Given the description of an element on the screen output the (x, y) to click on. 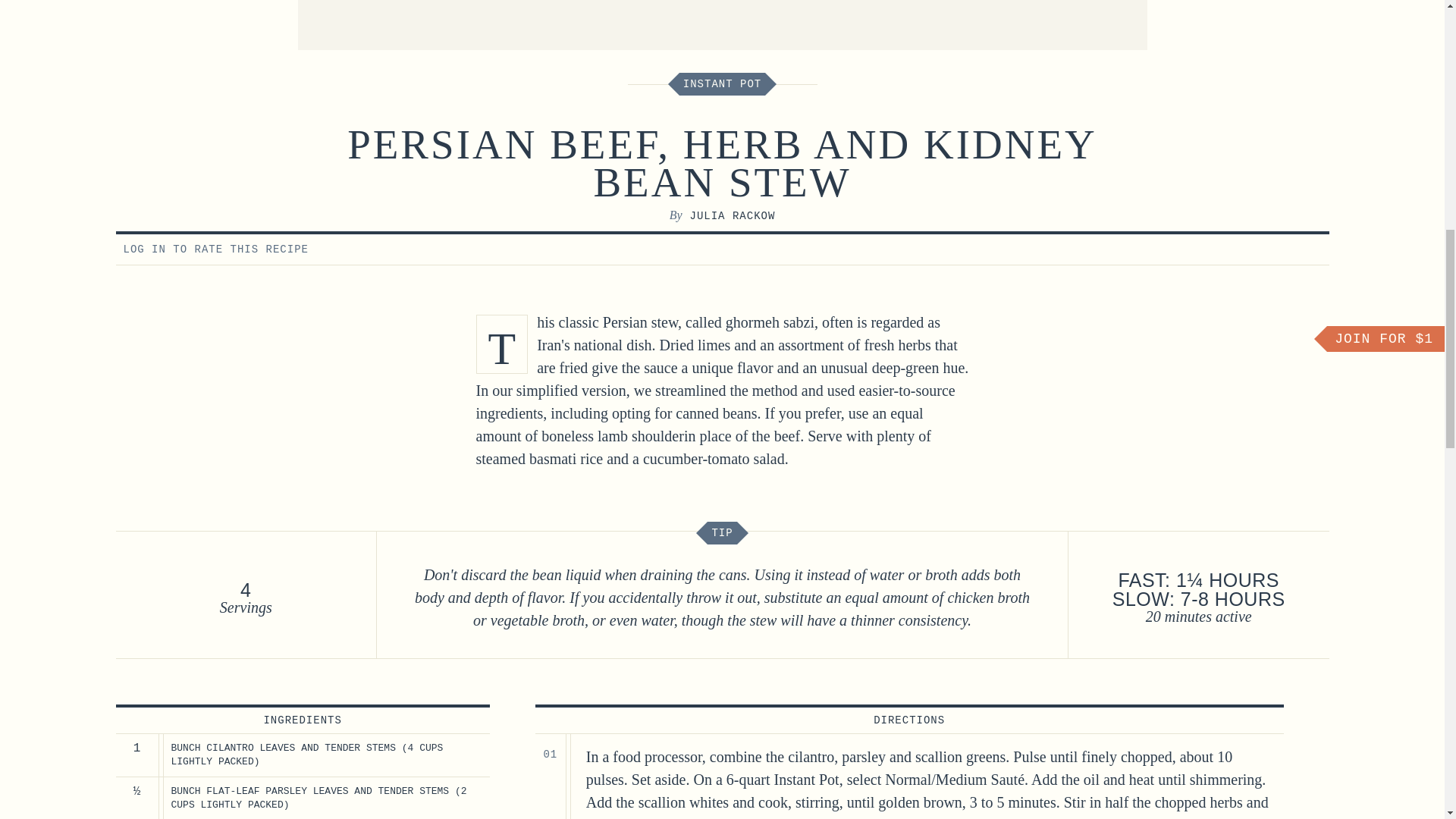
2 ratings (1250, 249)
